Given the description of an element on the screen output the (x, y) to click on. 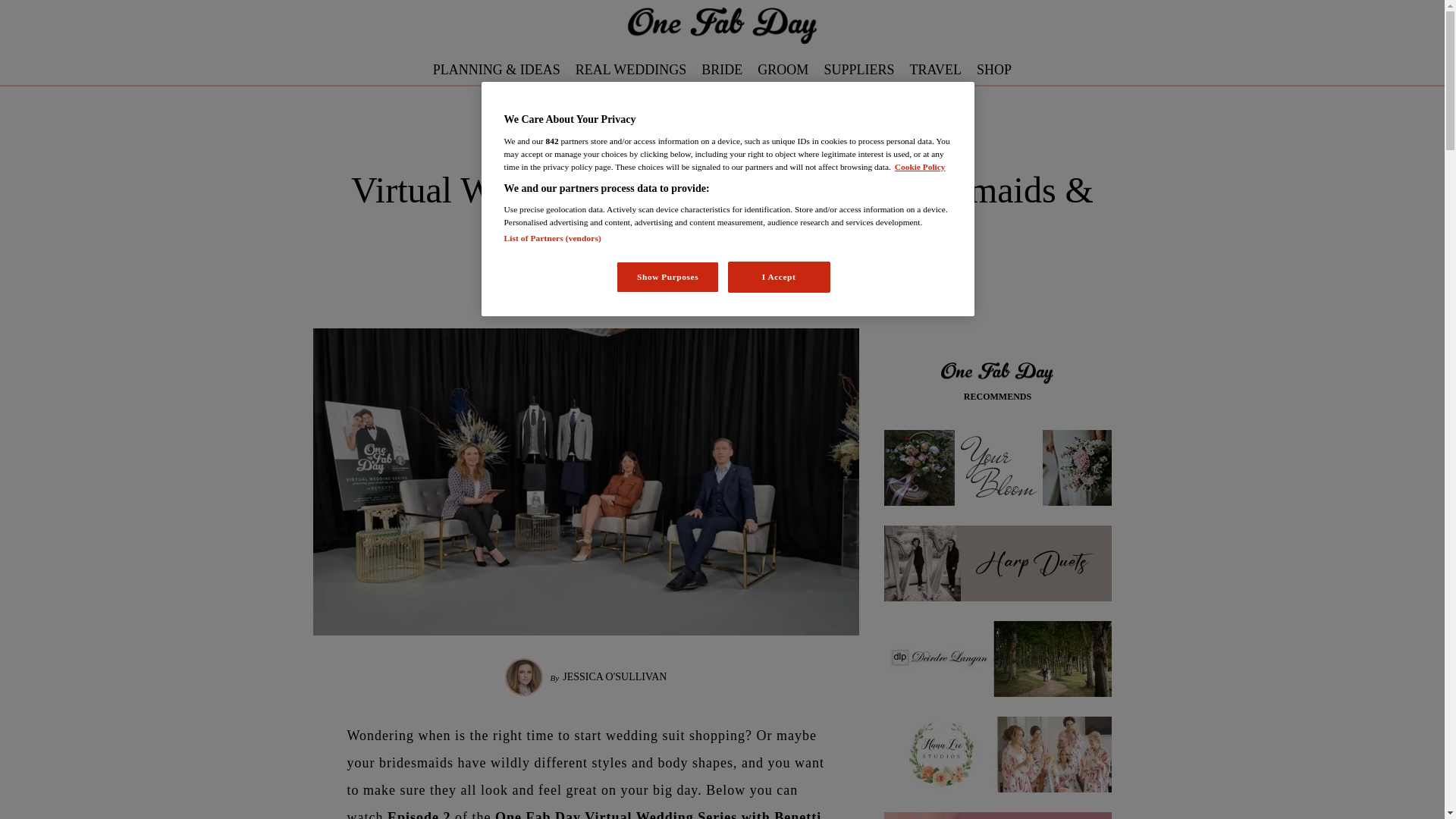
REAL WEDDINGS (630, 70)
